Given the description of an element on the screen output the (x, y) to click on. 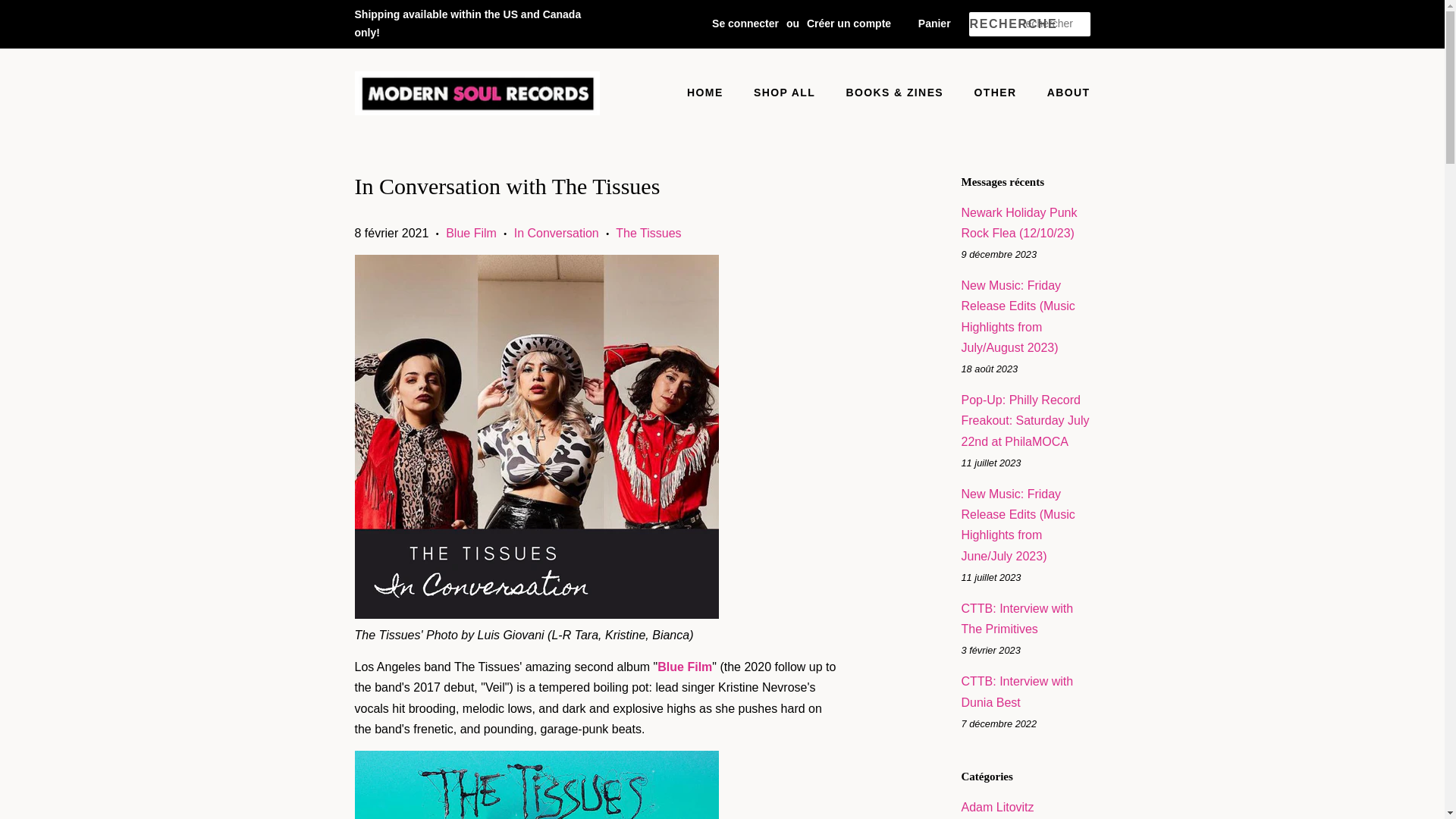
RECHERCHE (993, 24)
Show articles tagged Adam Litovitz (996, 807)
Panier (934, 24)
Se connecter (744, 23)
